Given the description of an element on the screen output the (x, y) to click on. 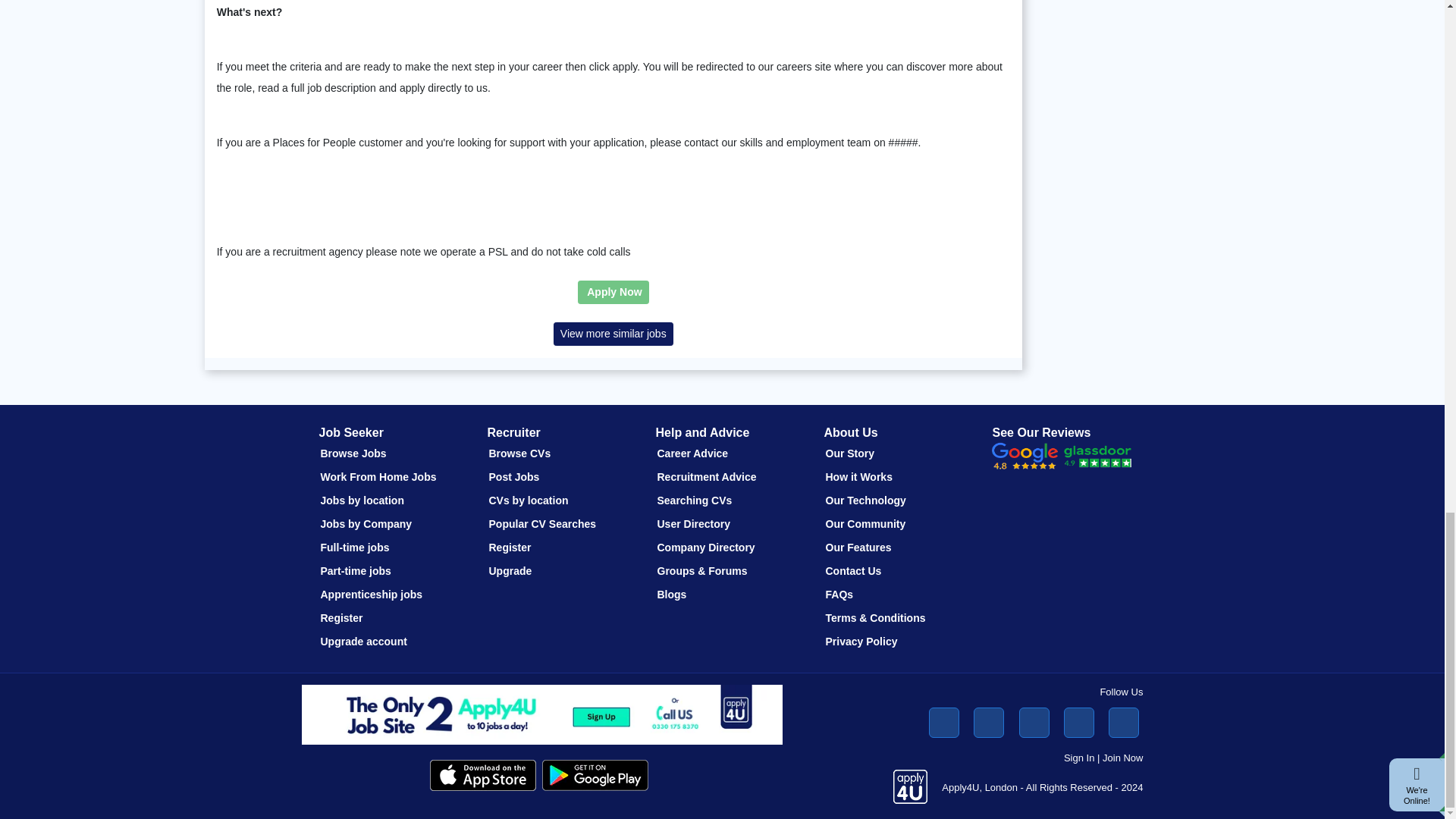
 Apply Now (613, 291)
